Given the description of an element on the screen output the (x, y) to click on. 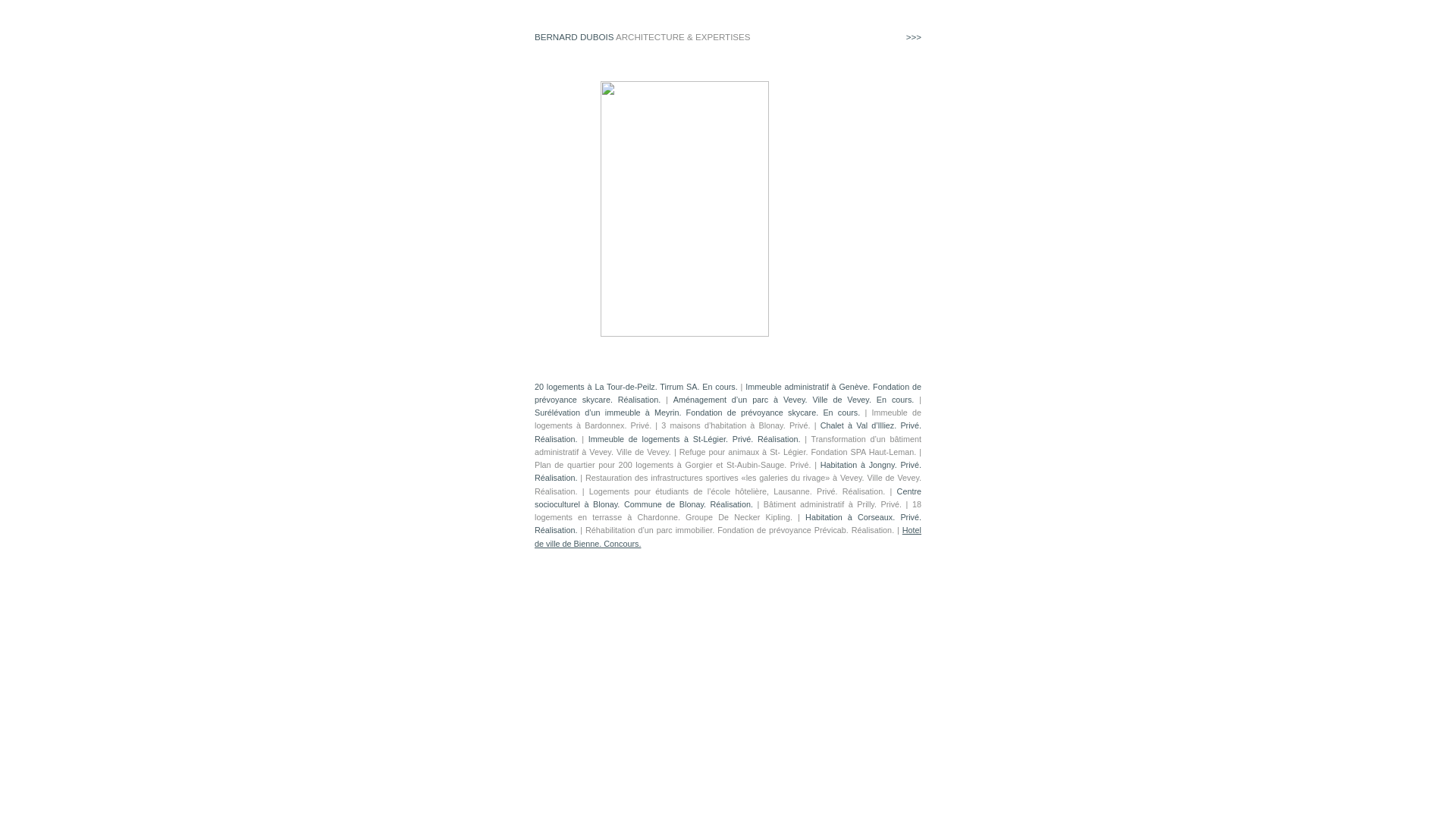
BERNARD DUBOIS ARCHITECTURE & EXPERTISES Element type: text (642, 36)
>>> Element type: text (913, 36)
Hotel de ville de Bienne. Concours. Element type: text (727, 536)
